Given the description of an element on the screen output the (x, y) to click on. 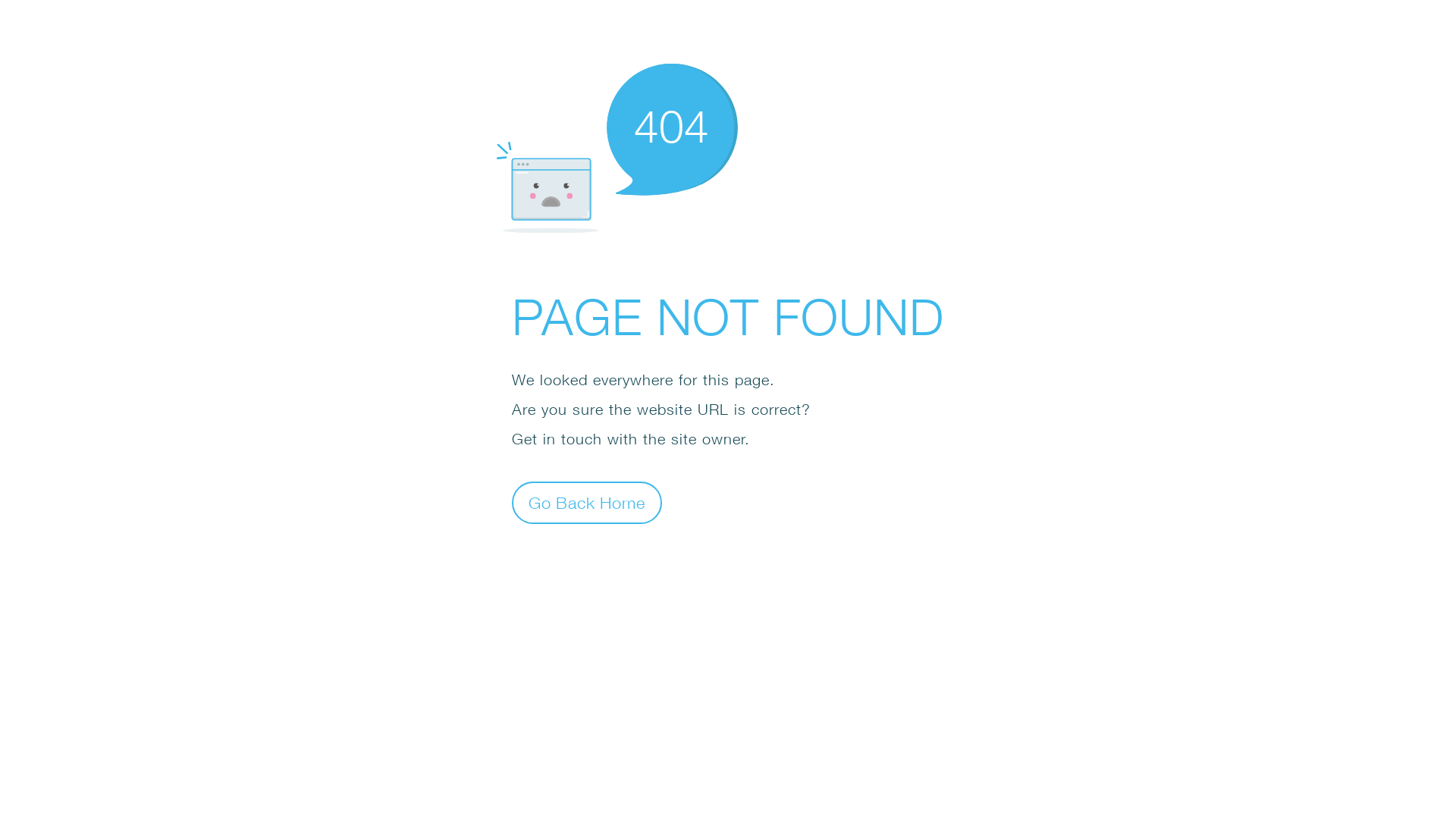
Go Back Home Element type: text (586, 502)
